Given the description of an element on the screen output the (x, y) to click on. 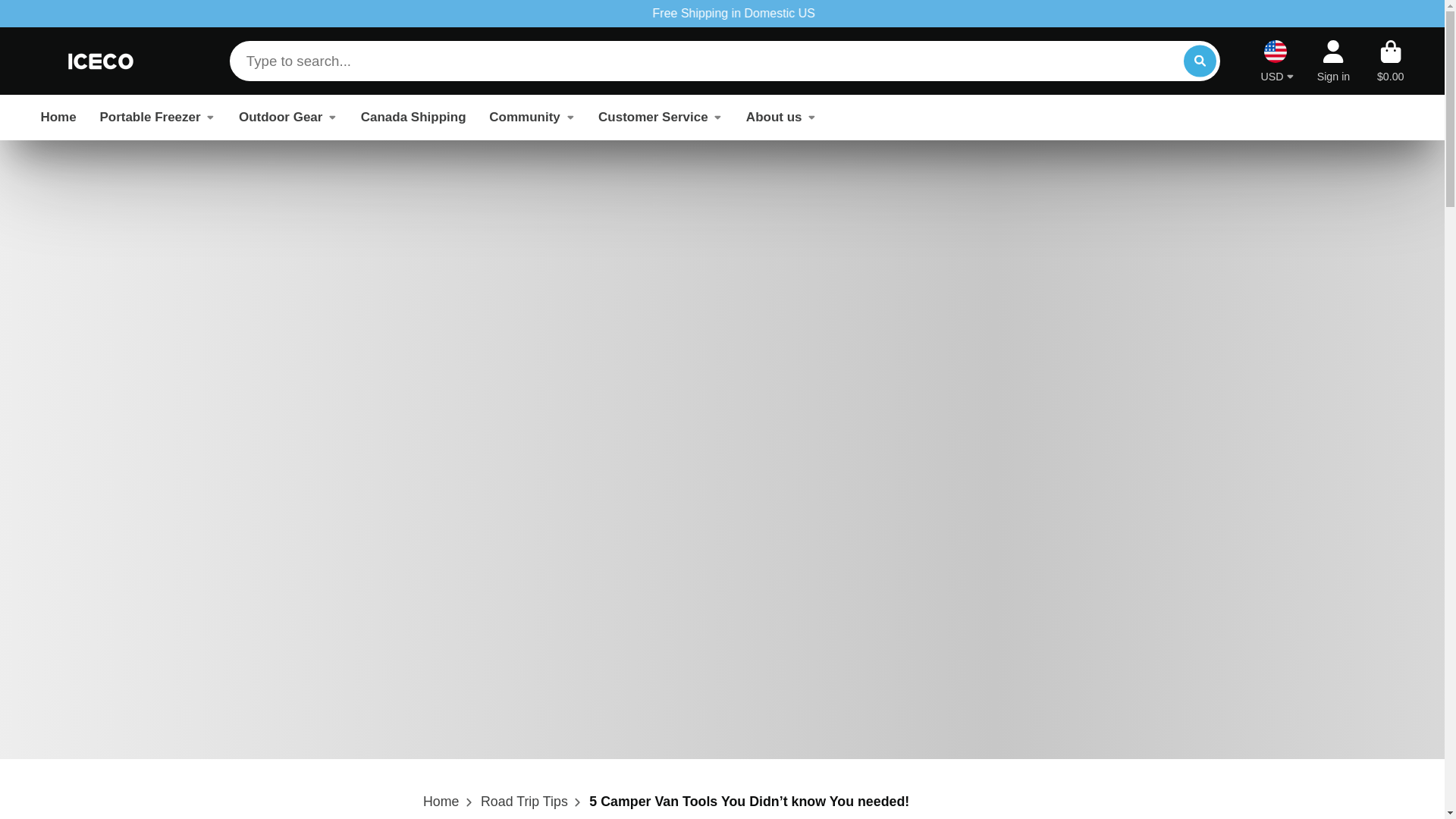
Home (441, 801)
Customer Service (660, 117)
Outdoor Gear (287, 117)
Portable Freezer (157, 117)
Logo (100, 60)
Community (532, 117)
About us (780, 117)
Canada Shipping (413, 117)
